Given the description of an element on the screen output the (x, y) to click on. 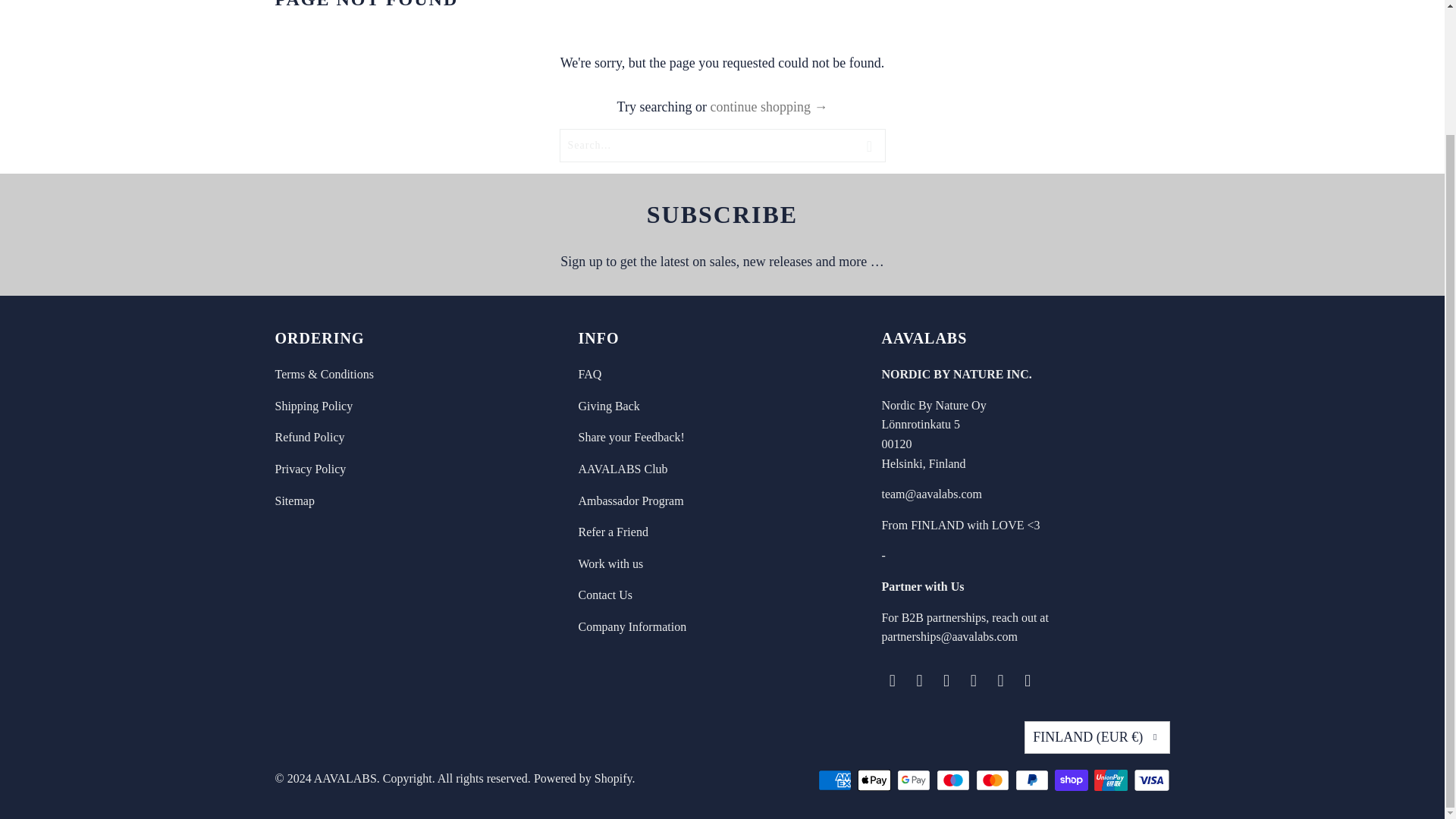
AAVALABS on Instagram (947, 680)
Visa (1150, 780)
PayPal (1032, 780)
Maestro (954, 780)
Google Pay (914, 780)
Shop Pay (1072, 780)
Union Pay (1111, 780)
Email AAVALABS (892, 680)
Mastercard (993, 780)
American Express (834, 780)
AAVALABS on LinkedIn (973, 680)
AAVALABS on Facebook (919, 680)
Apple Pay (875, 780)
AAVALABS on YouTube (1027, 680)
AAVALABS on TikTok (1000, 680)
